Given the description of an element on the screen output the (x, y) to click on. 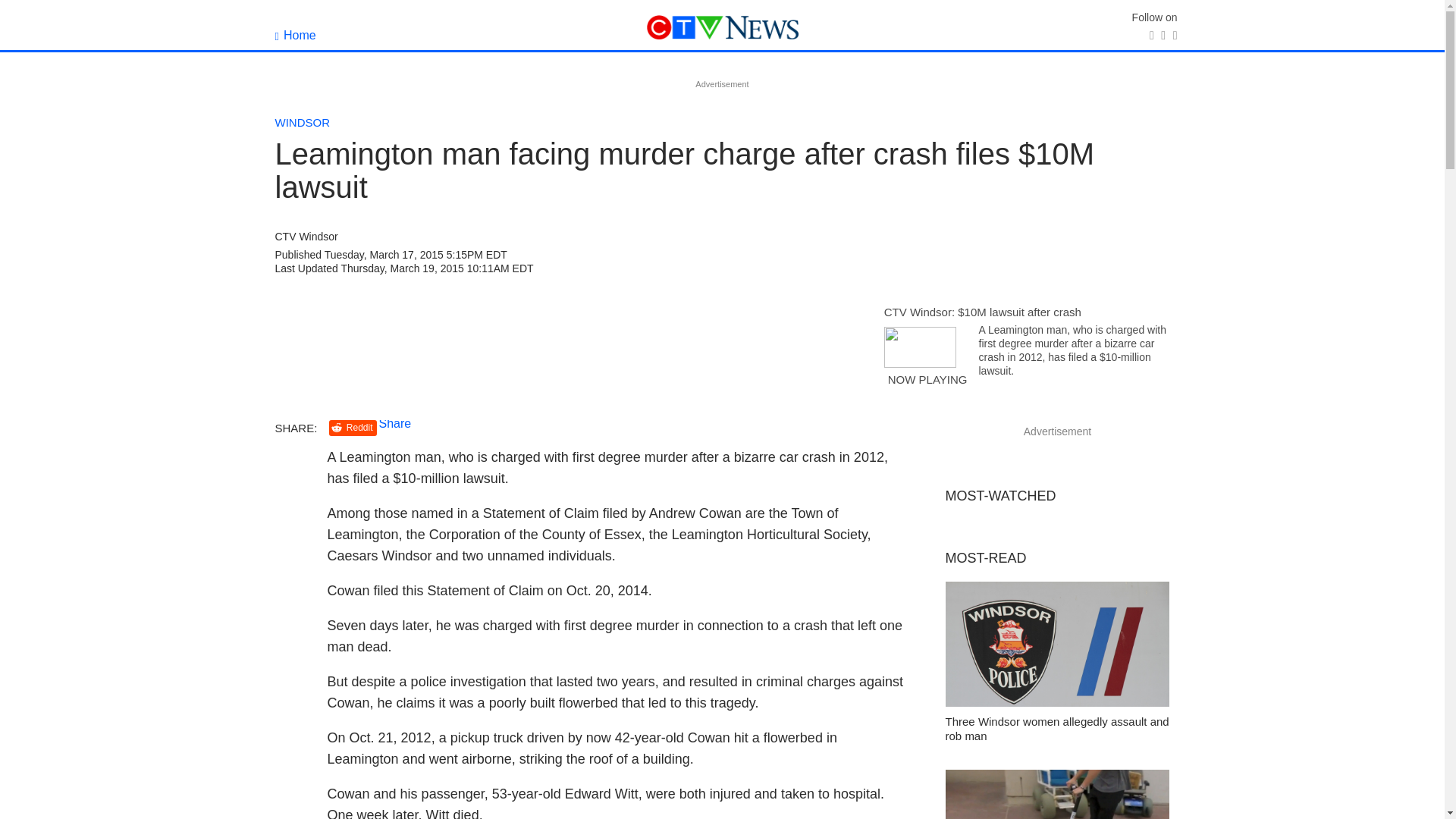
Home (295, 34)
WINDSOR (302, 122)
Share (395, 422)
Reddit (353, 427)
NOW PLAYING (927, 386)
